Given the description of an element on the screen output the (x, y) to click on. 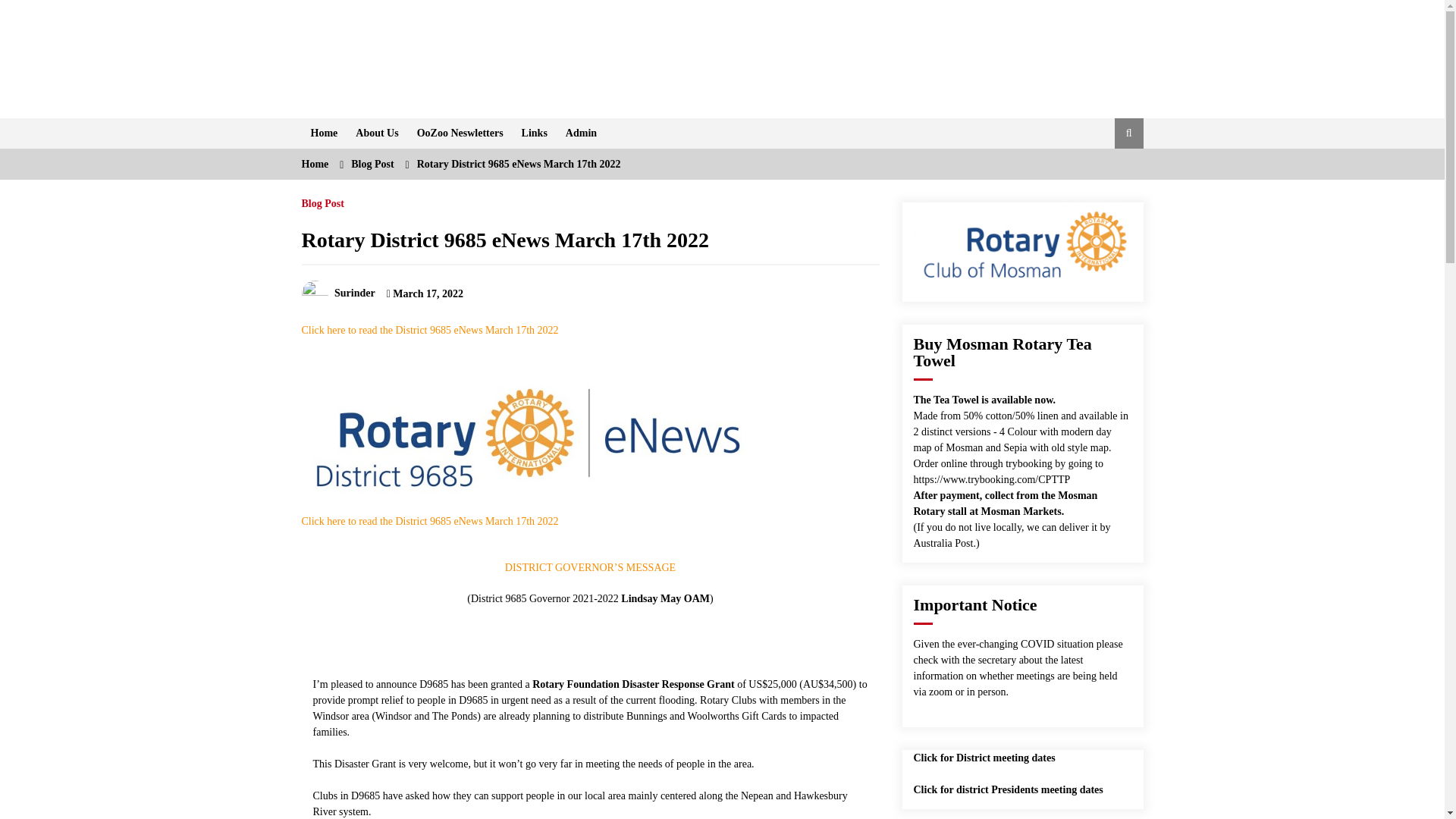
Blog Post (371, 163)
Click for District meeting dates (983, 757)
Links (534, 132)
Home (324, 132)
Click here to read the District 9685 eNews March 17th 2022 (430, 521)
Rotary District 9685 eNews March 17th 2022 (518, 163)
Surinder (338, 292)
OoZoo Neswletters (459, 132)
About Us (376, 132)
Admin (580, 132)
Blog Post (322, 199)
Rotary District 9685 eNews March 17th 2022 (505, 239)
Home (315, 163)
Click here to read the District 9685 eNews March 17th 2022 (430, 329)
Click for district Presidents meeting dates (1007, 789)
